Given the description of an element on the screen output the (x, y) to click on. 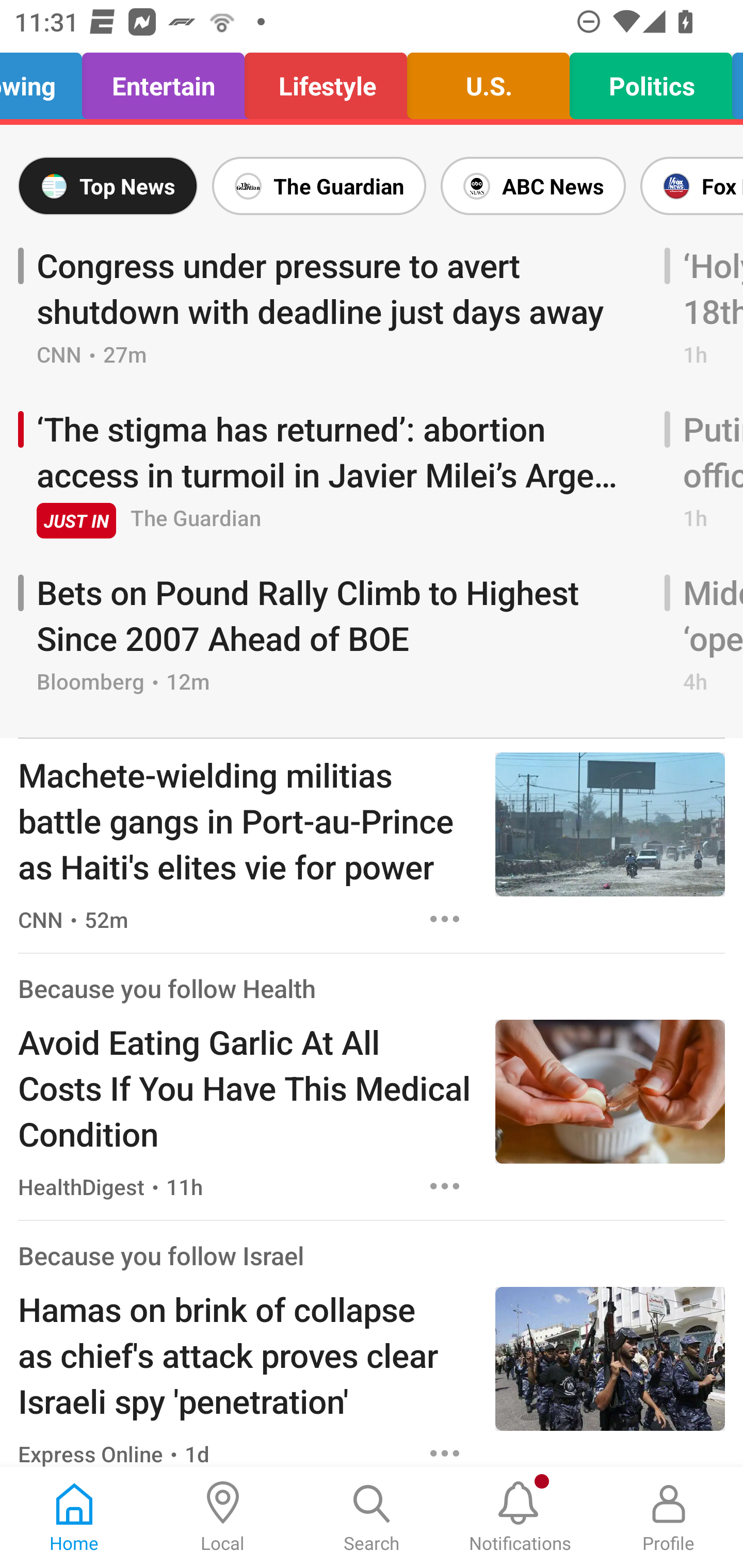
Entertain (163, 81)
Lifestyle (325, 81)
U.S. (488, 81)
Politics (650, 81)
The Guardian (319, 185)
ABC News (533, 185)
JUST IN (75, 520)
Options (444, 918)
Because you follow Health (166, 987)
Options (444, 1186)
Because you follow Israel (160, 1255)
Options (444, 1449)
Local (222, 1517)
Search (371, 1517)
Notifications, New notification Notifications (519, 1517)
Profile (668, 1517)
